Given the description of an element on the screen output the (x, y) to click on. 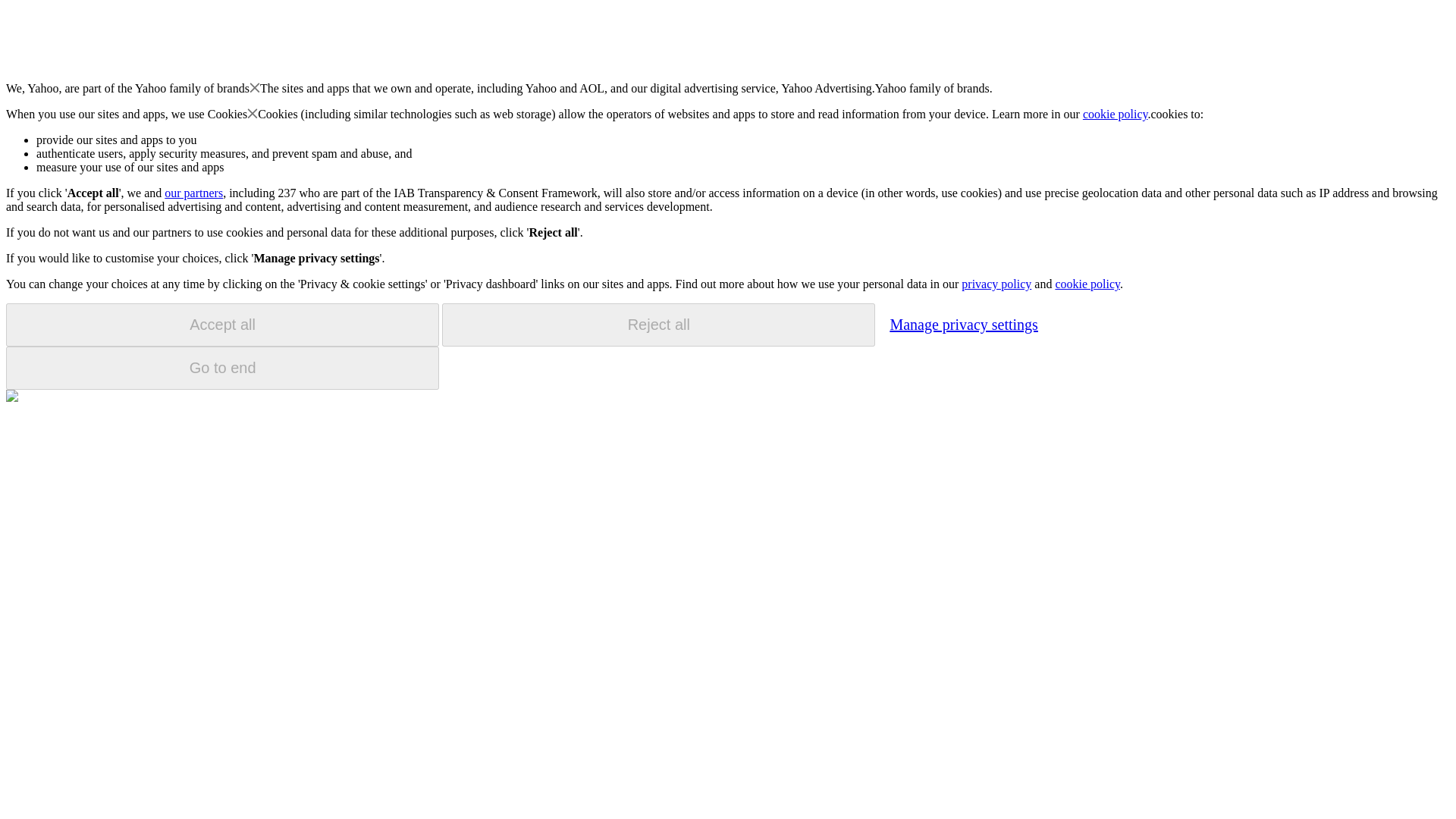
Go to end (222, 367)
cookie policy (1086, 283)
Manage privacy settings (963, 323)
our partners (193, 192)
cookie policy (1115, 113)
Reject all (658, 324)
privacy policy (995, 283)
Accept all (222, 324)
